Given the description of an element on the screen output the (x, y) to click on. 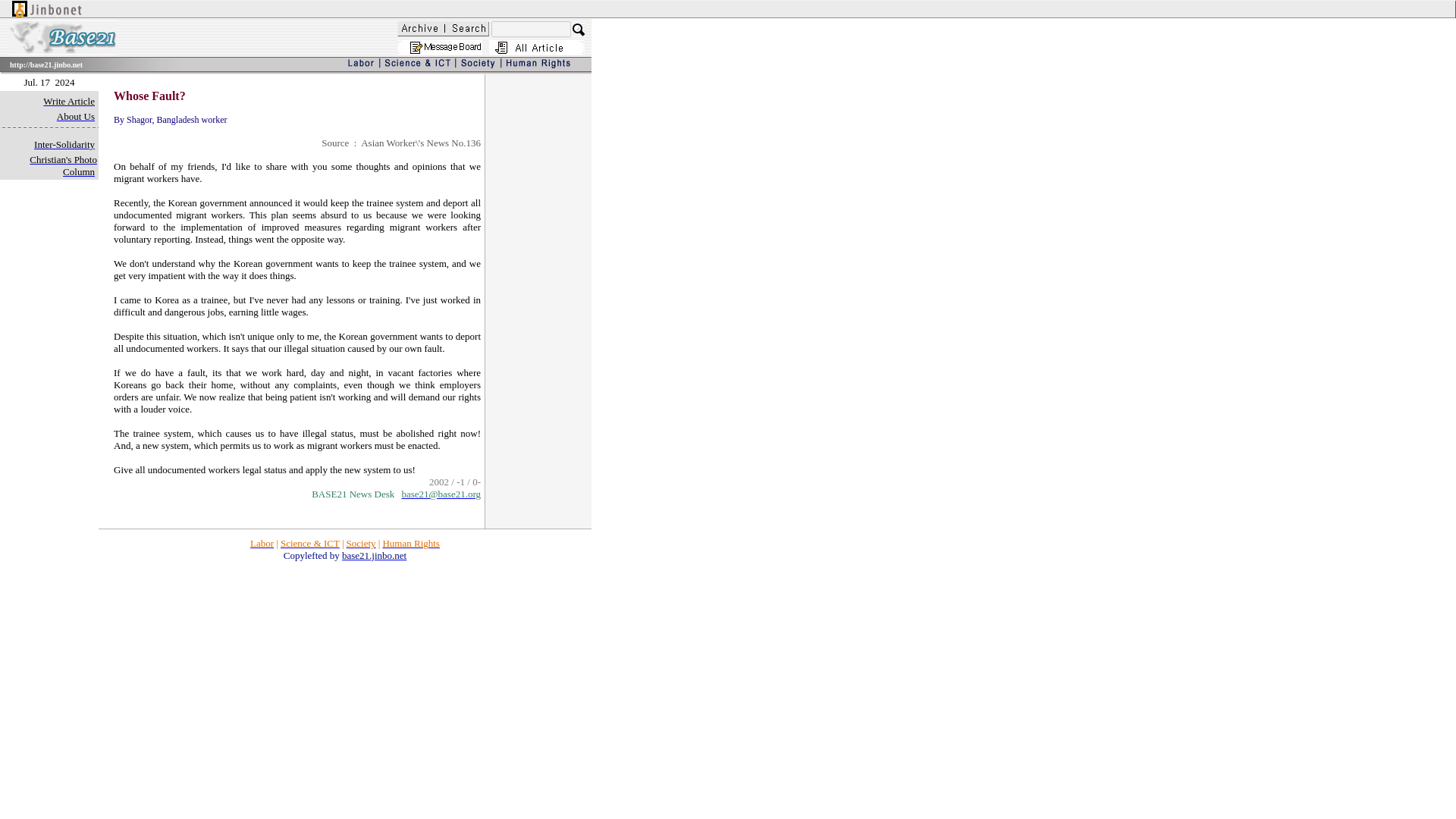
base21.jinbo.net (374, 555)
Human Rights (410, 543)
Write Article (68, 101)
Labor (261, 543)
Society (360, 543)
Inter-Solidarity (63, 144)
Christian's Photo Column (63, 165)
About Us (75, 116)
